Given the description of an element on the screen output the (x, y) to click on. 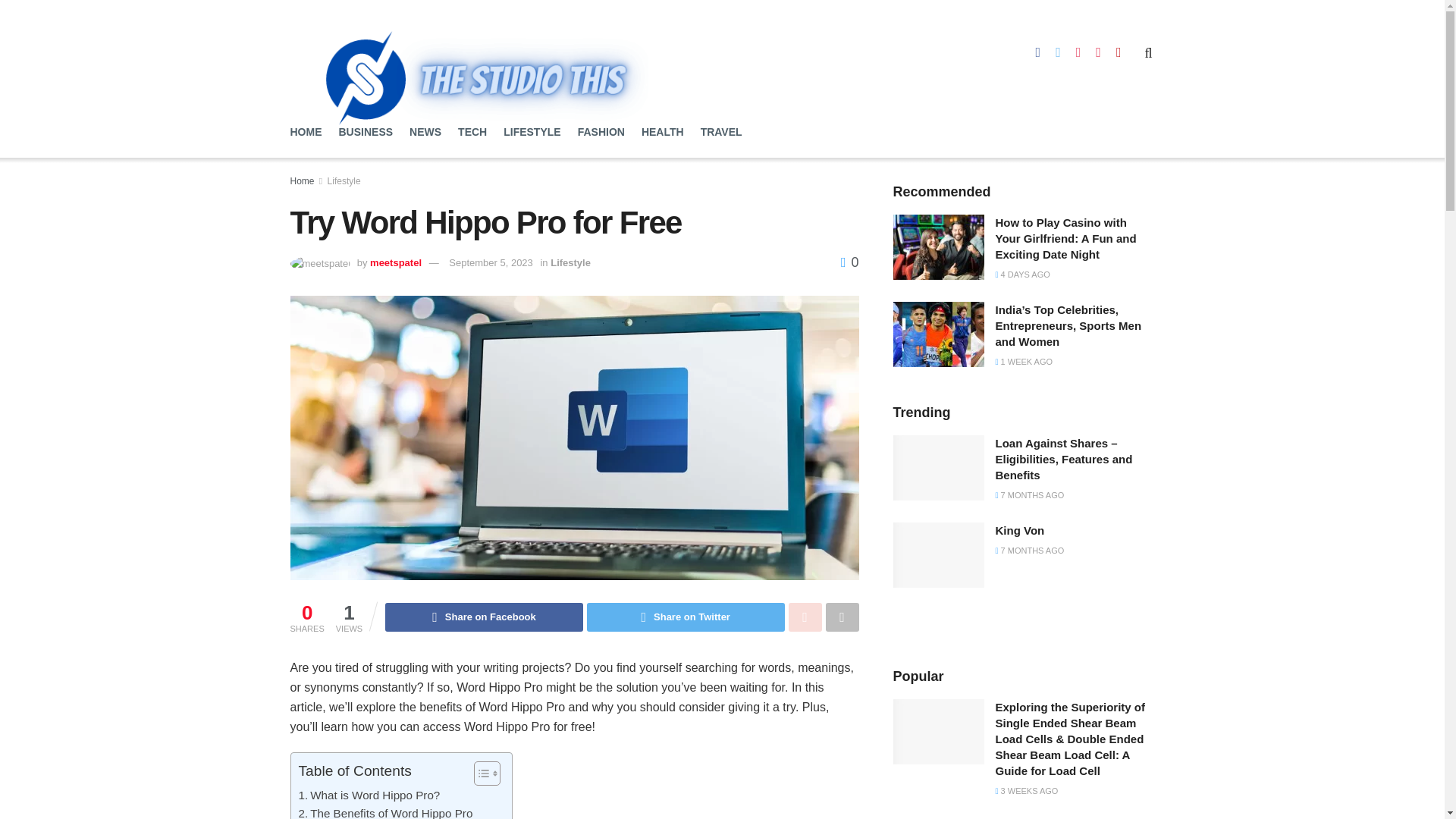
Share on Facebook (484, 616)
meetspatel (395, 262)
Home (301, 181)
LIFESTYLE (531, 132)
The Benefits of Word Hippo Pro (385, 811)
FASHION (601, 132)
September 5, 2023 (490, 262)
Lifestyle (344, 181)
Lifestyle (570, 262)
Share on Twitter (685, 616)
